Given the description of an element on the screen output the (x, y) to click on. 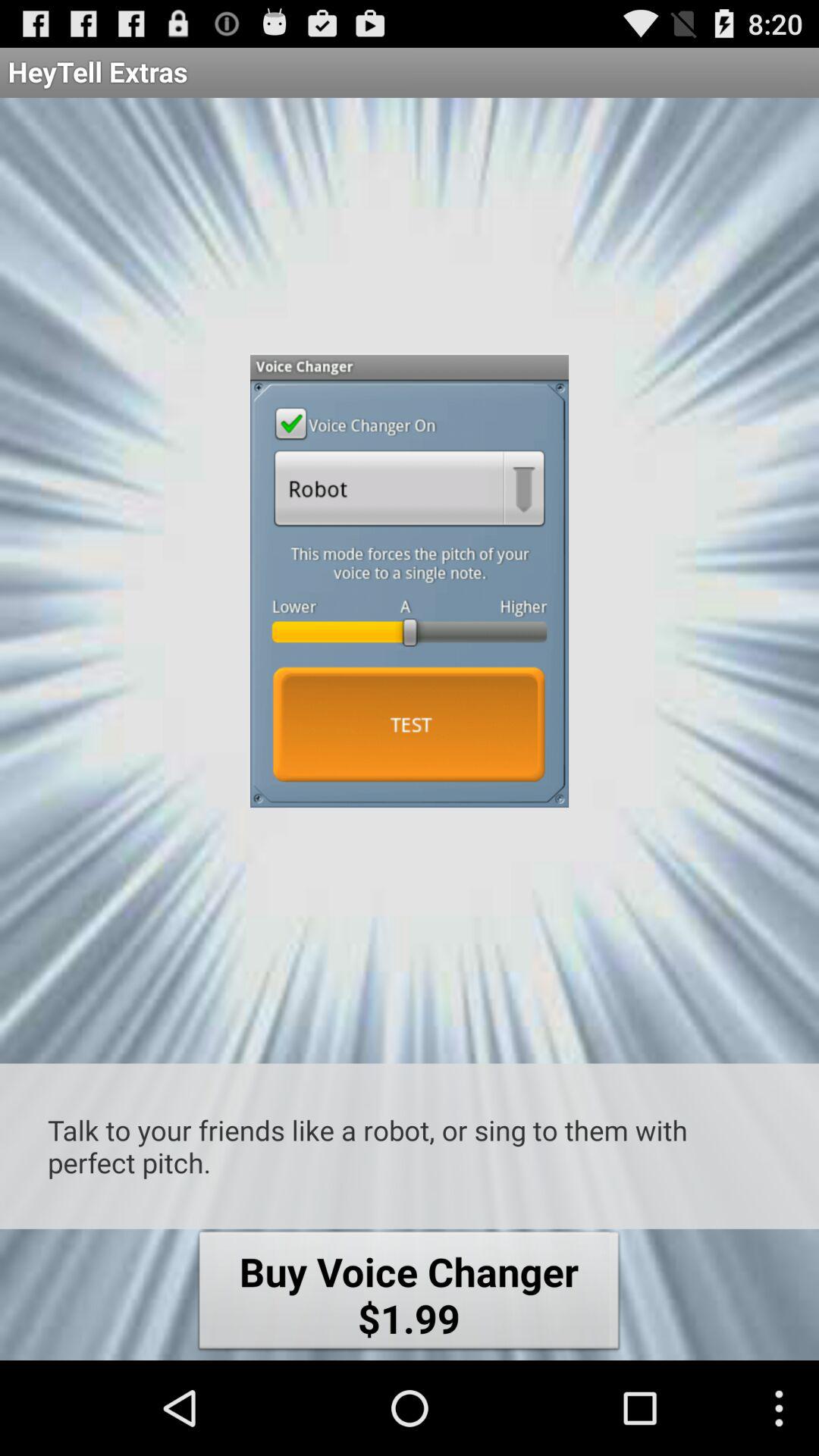
press the buy voice changer item (408, 1294)
